Given the description of an element on the screen output the (x, y) to click on. 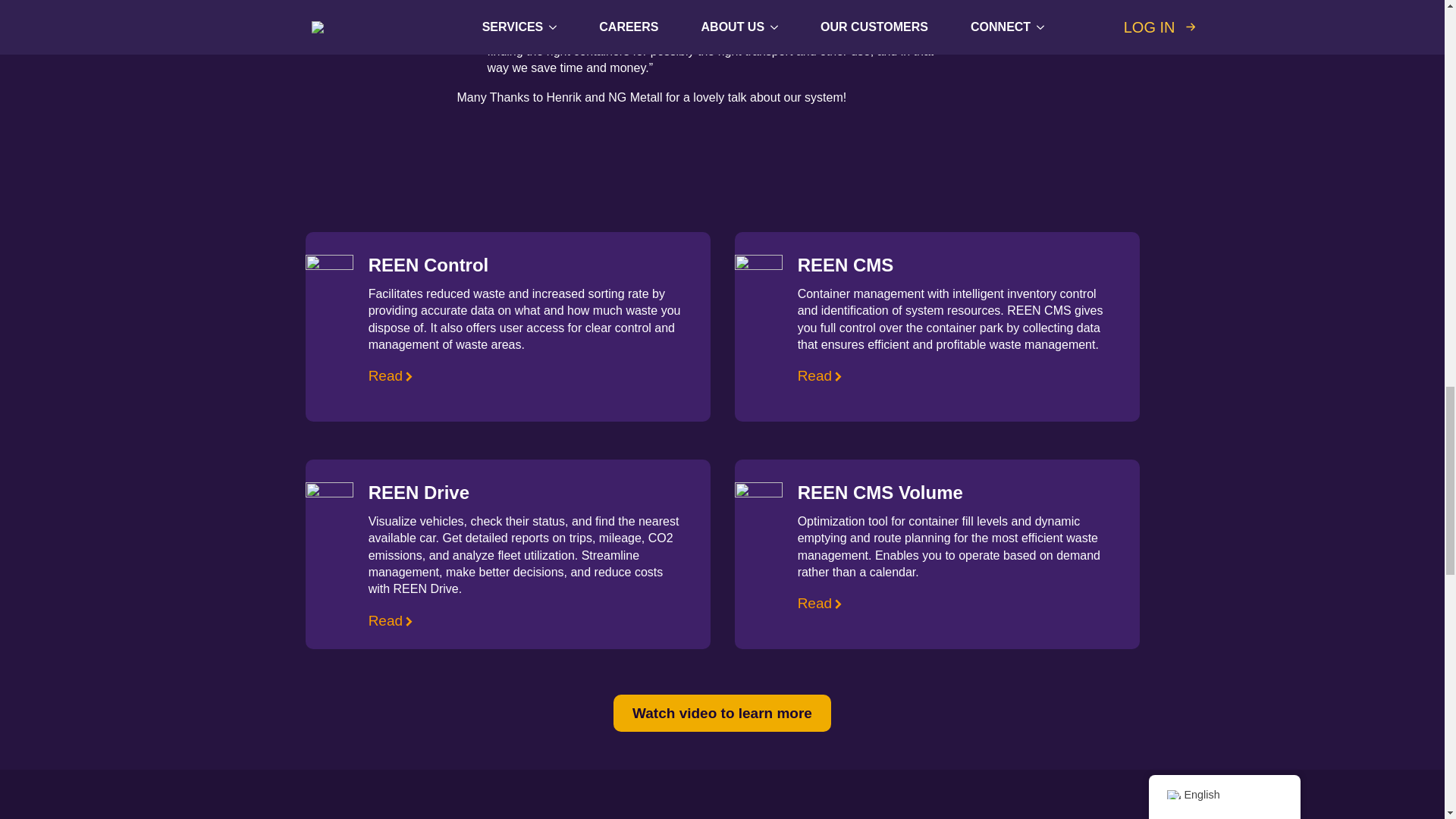
Read (821, 603)
Read (821, 375)
Read (392, 620)
Read (392, 375)
Watch video to learn more (721, 713)
